Given the description of an element on the screen output the (x, y) to click on. 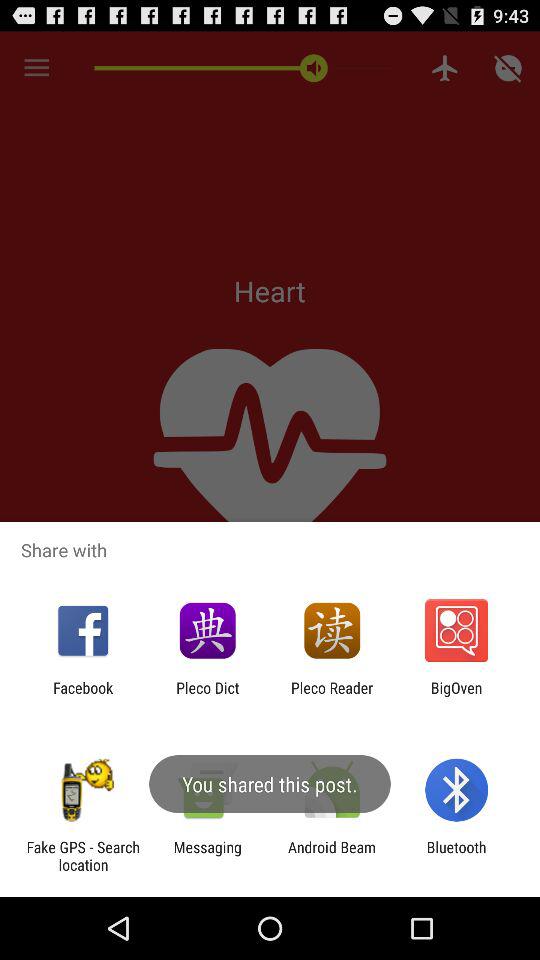
turn on item next to the pleco dict icon (83, 696)
